Given the description of an element on the screen output the (x, y) to click on. 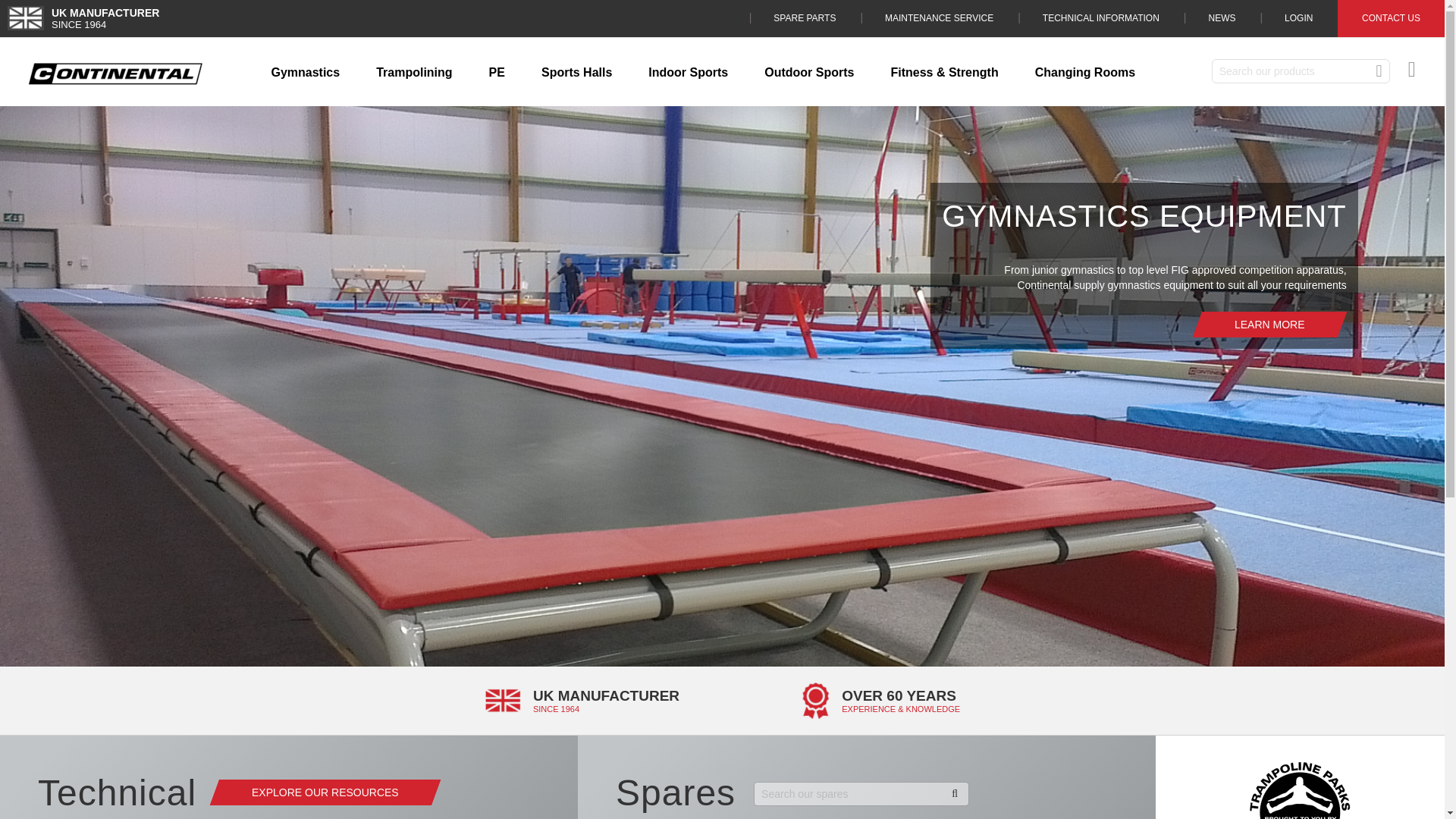
Technical Information (1100, 18)
Trampolining (413, 72)
Technical Information (319, 792)
SPARE PARTS (804, 18)
Gymnastics (305, 72)
NEWS (1221, 18)
MAINTENANCE SERVICE (938, 18)
LOGIN (1298, 18)
TECHNICAL INFORMATION (1100, 18)
News (1221, 18)
